Given the description of an element on the screen output the (x, y) to click on. 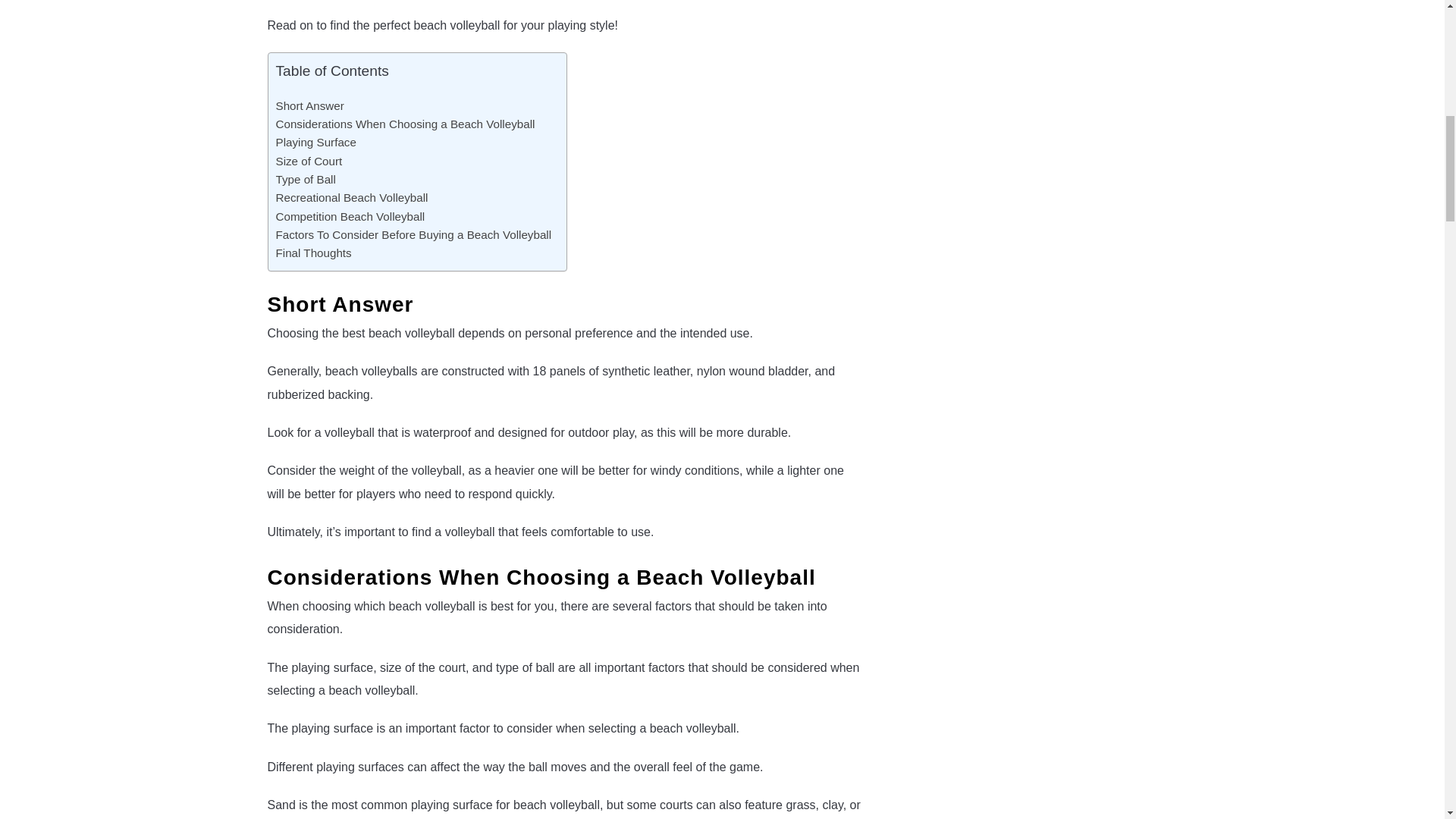
Playing Surface (316, 142)
Factors To Consider Before Buying a Beach Volleyball (413, 235)
Playing Surface (316, 142)
Short Answer (309, 106)
Considerations When Choosing a Beach Volleyball (405, 124)
Competition Beach Volleyball (350, 217)
Short Answer (309, 106)
Factors To Consider Before Buying a Beach Volleyball (413, 235)
Recreational Beach Volleyball (352, 198)
Type of Ball (306, 179)
